Given the description of an element on the screen output the (x, y) to click on. 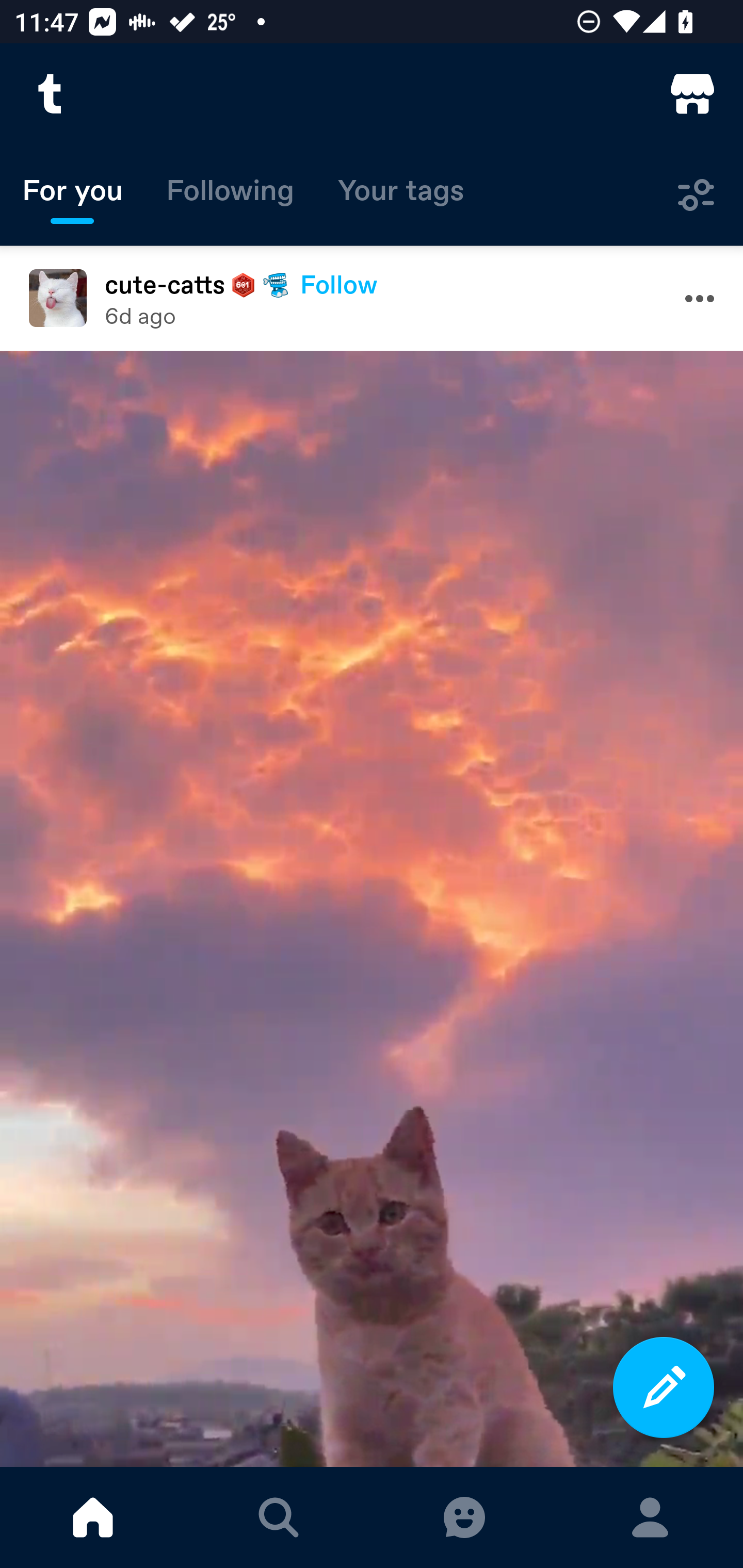
Tumblr (50, 93)
TumblrMart (692, 94)
Following (230, 195)
Your tags (400, 195)
Follow (338, 283)
Compose a new post (663, 1387)
DASHBOARD (92, 1517)
EXPLORE (278, 1517)
MESSAGES (464, 1517)
ACCOUNT (650, 1517)
